Given the description of an element on the screen output the (x, y) to click on. 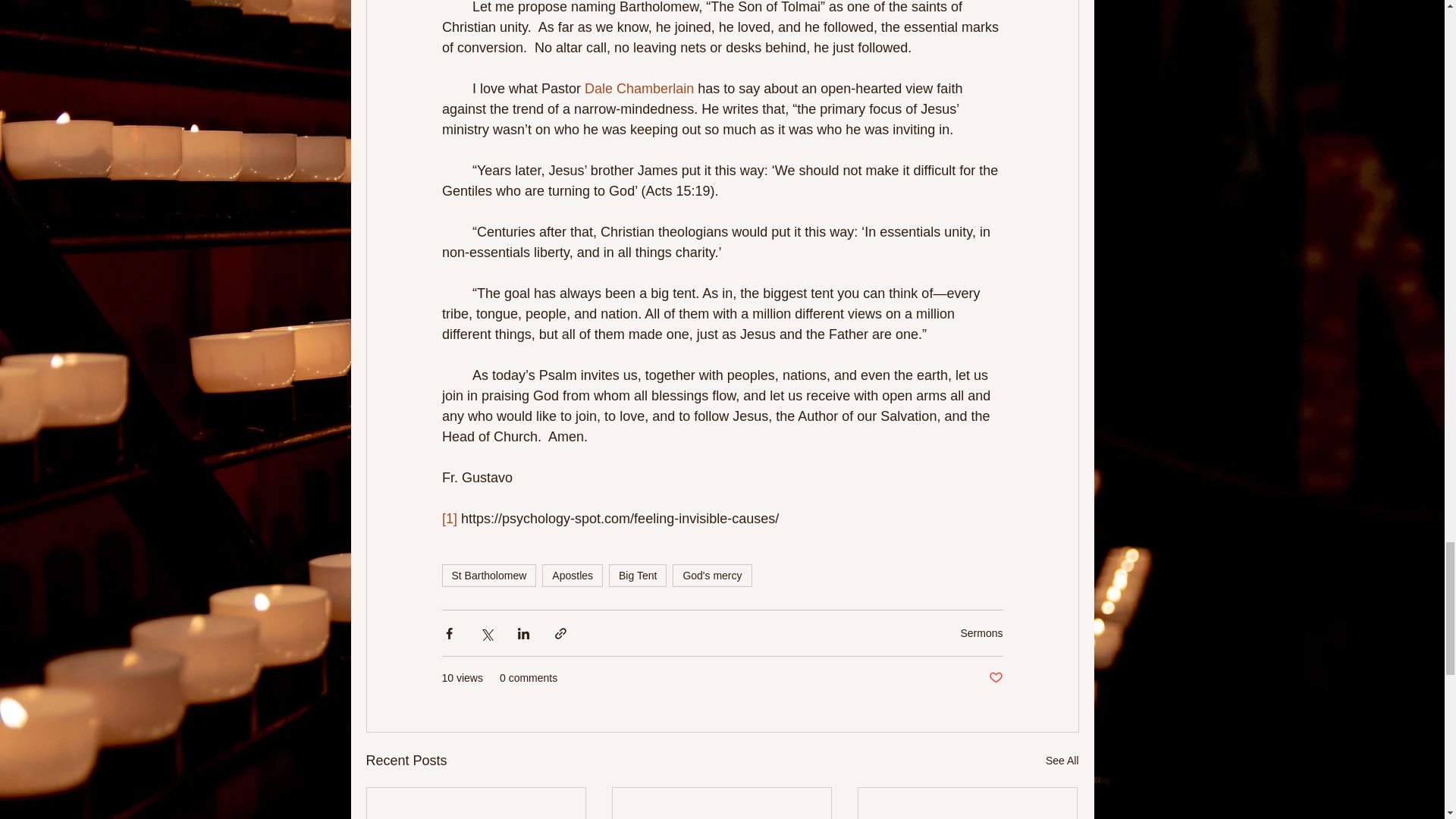
Apostles (571, 575)
Post not marked as liked (995, 678)
See All (1061, 761)
Big Tent (637, 575)
Dale Chamberlain (639, 88)
Sermons (981, 632)
God's mercy (711, 575)
St Bartholomew (488, 575)
